Given the description of an element on the screen output the (x, y) to click on. 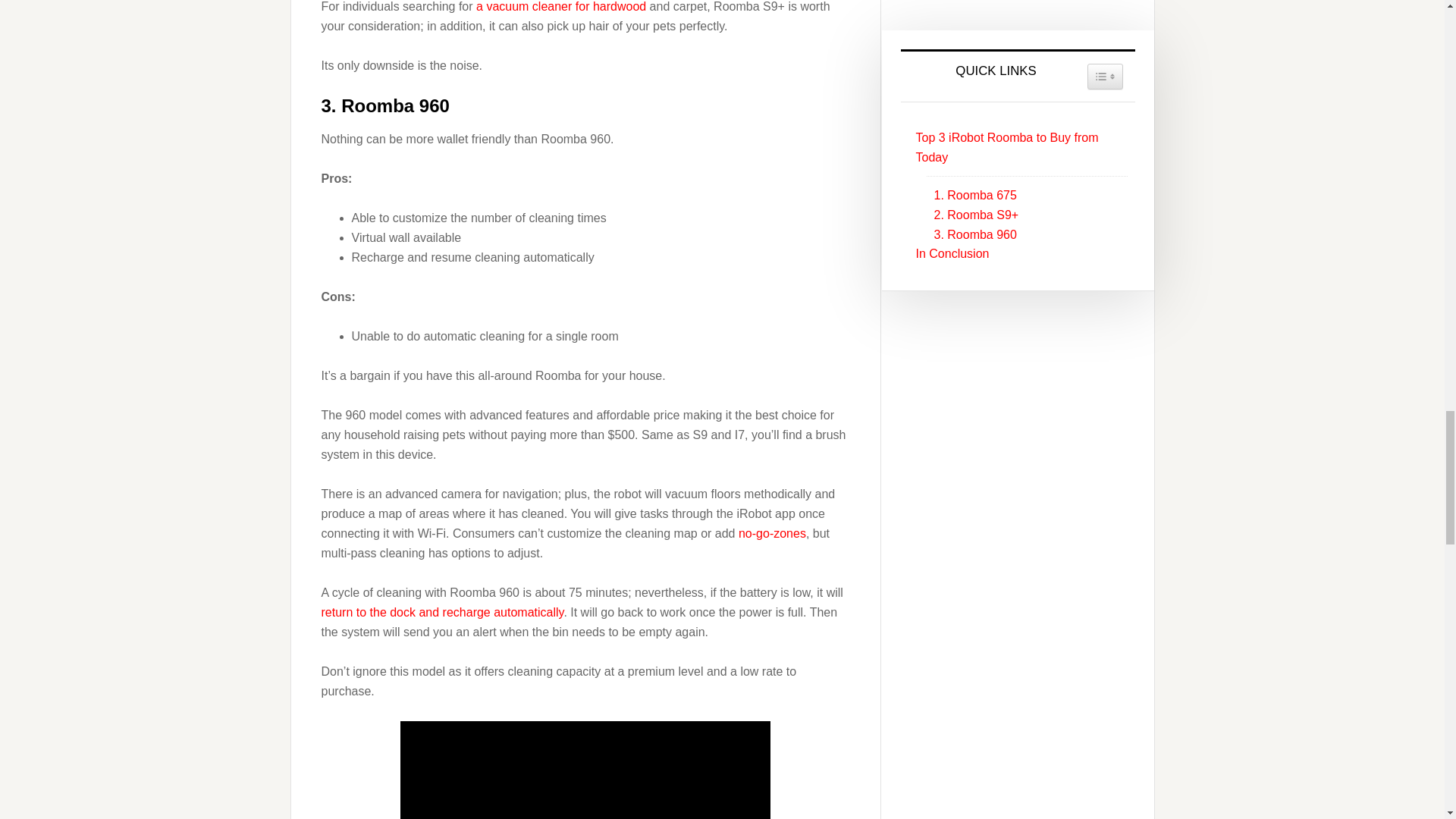
return to the dock and recharge automatically (442, 612)
no-go-zones (772, 533)
a vacuum cleaner for hardwood (561, 6)
